Given the description of an element on the screen output the (x, y) to click on. 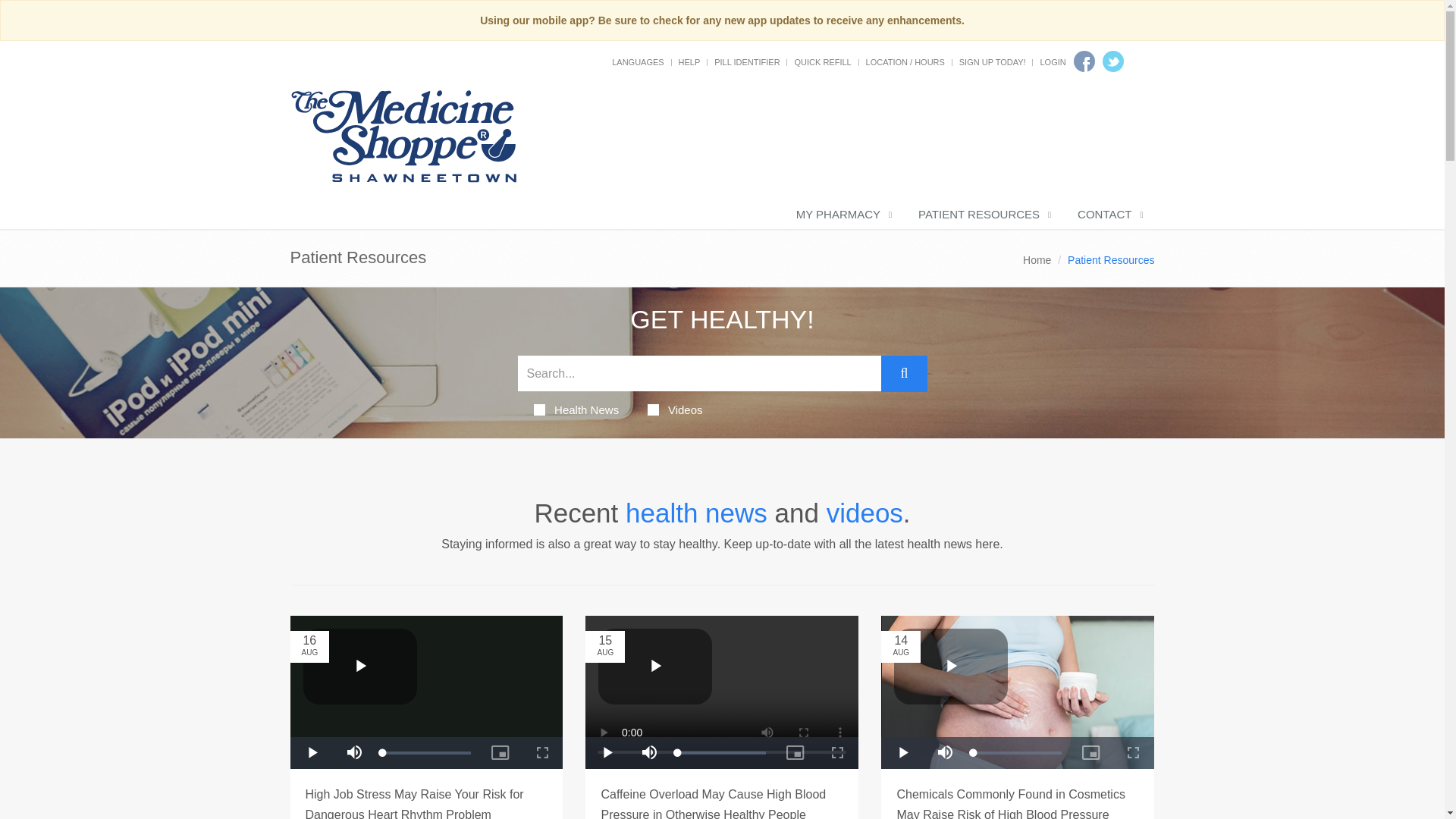
SIGN UP TODAY! (992, 61)
HELP (689, 61)
Home (1037, 259)
MY PHARMACY (841, 214)
PILL IDENTIFIER (746, 61)
PATIENT RESOURCES (982, 214)
LOGIN (1052, 61)
QUICK REFILL (821, 61)
